Given the description of an element on the screen output the (x, y) to click on. 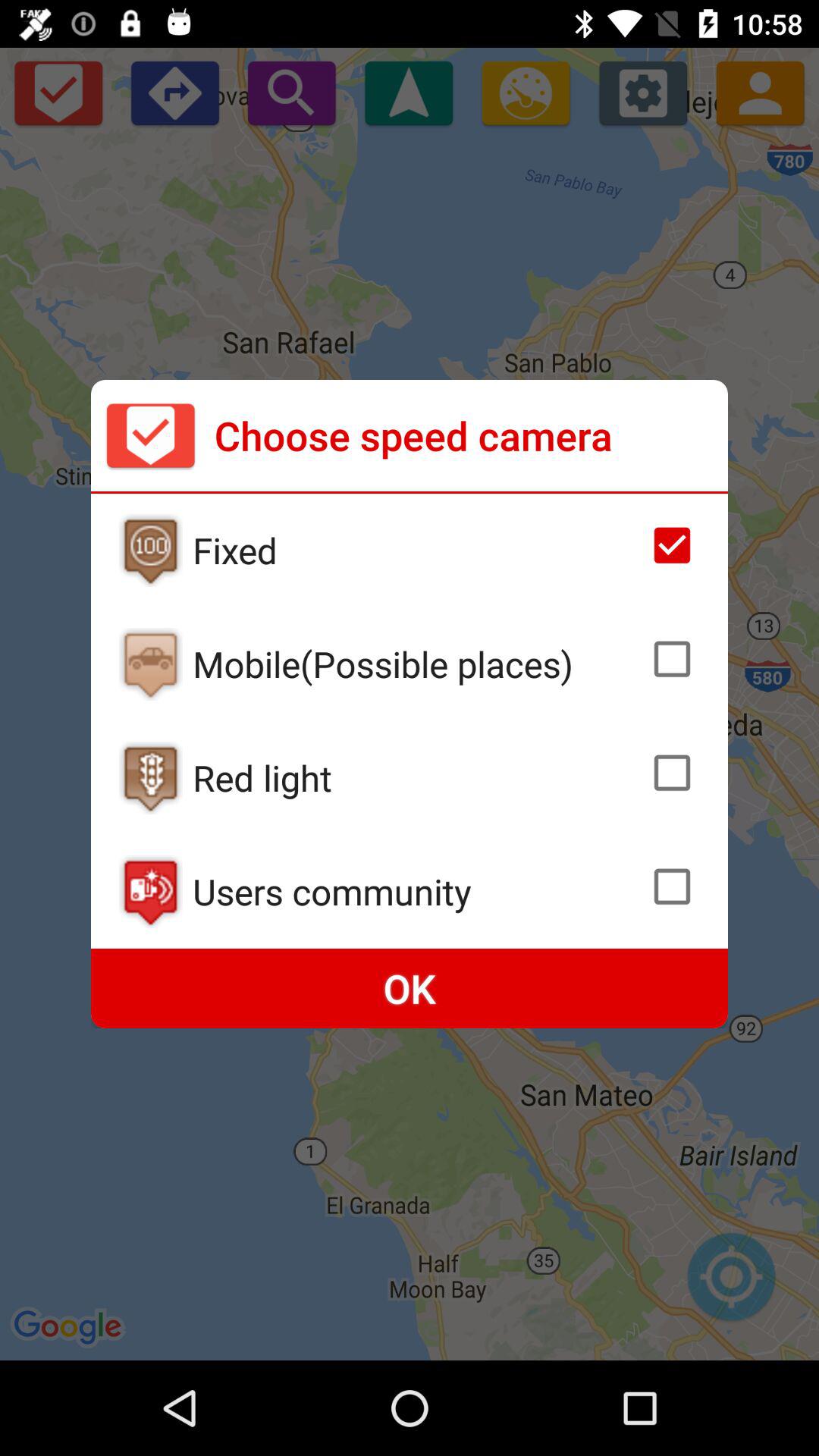
traffic light (150, 778)
